Given the description of an element on the screen output the (x, y) to click on. 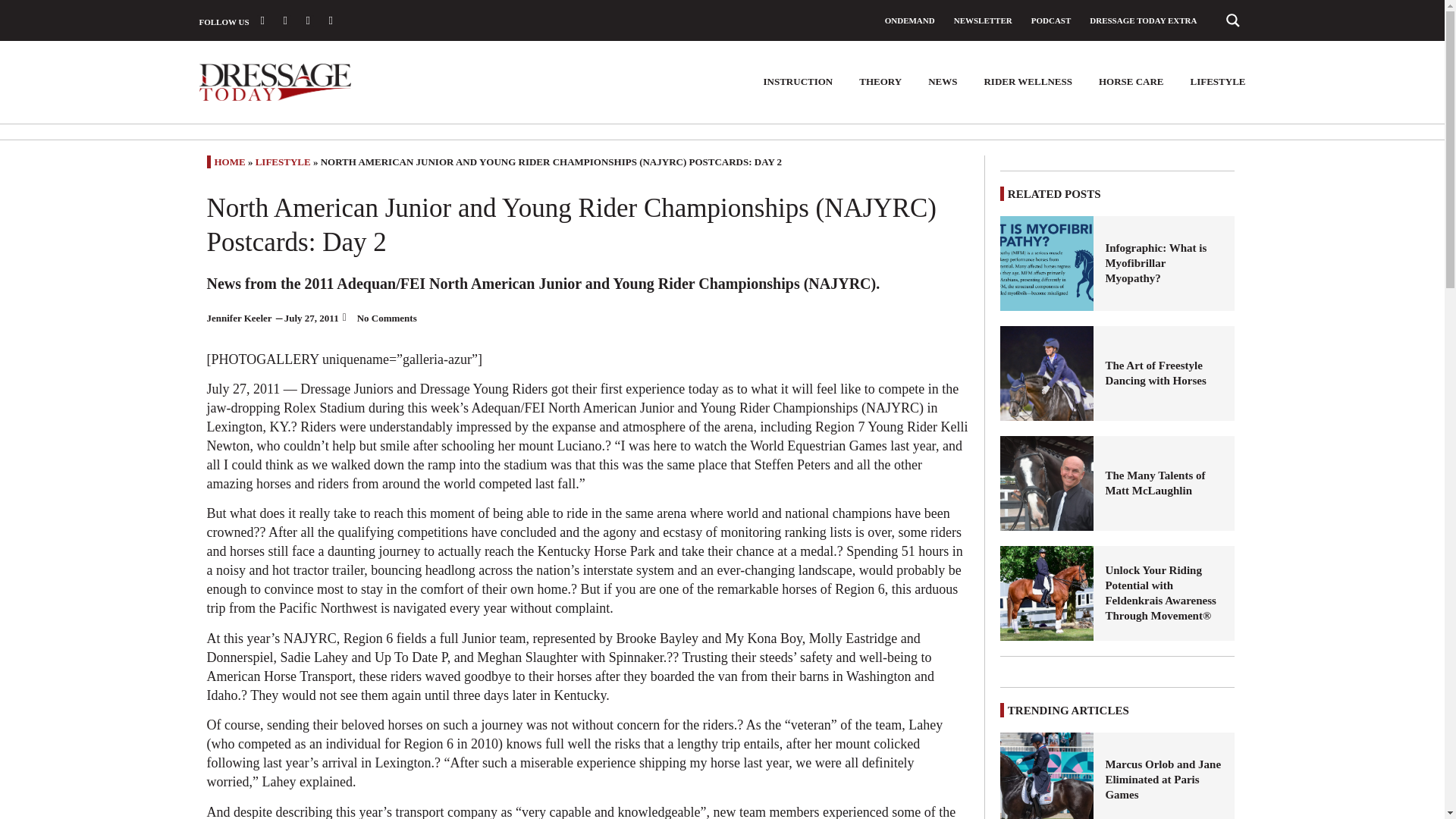
INSTRUCTION (797, 81)
HORSE CARE (1131, 81)
DRESSAGE TODAY EXTRA (1142, 20)
The Many Talents of Matt McLaughlin (1164, 482)
Marcus Orlob and Jane Eliminated at Paris Games (1164, 779)
THEORY (880, 81)
NEWS (942, 81)
Infographic: What is Myofibrillar Myopathy? (1164, 262)
ONDEMAND (909, 20)
Infographic: What is Myofibrillar Myopathy? (1047, 263)
